Given the description of an element on the screen output the (x, y) to click on. 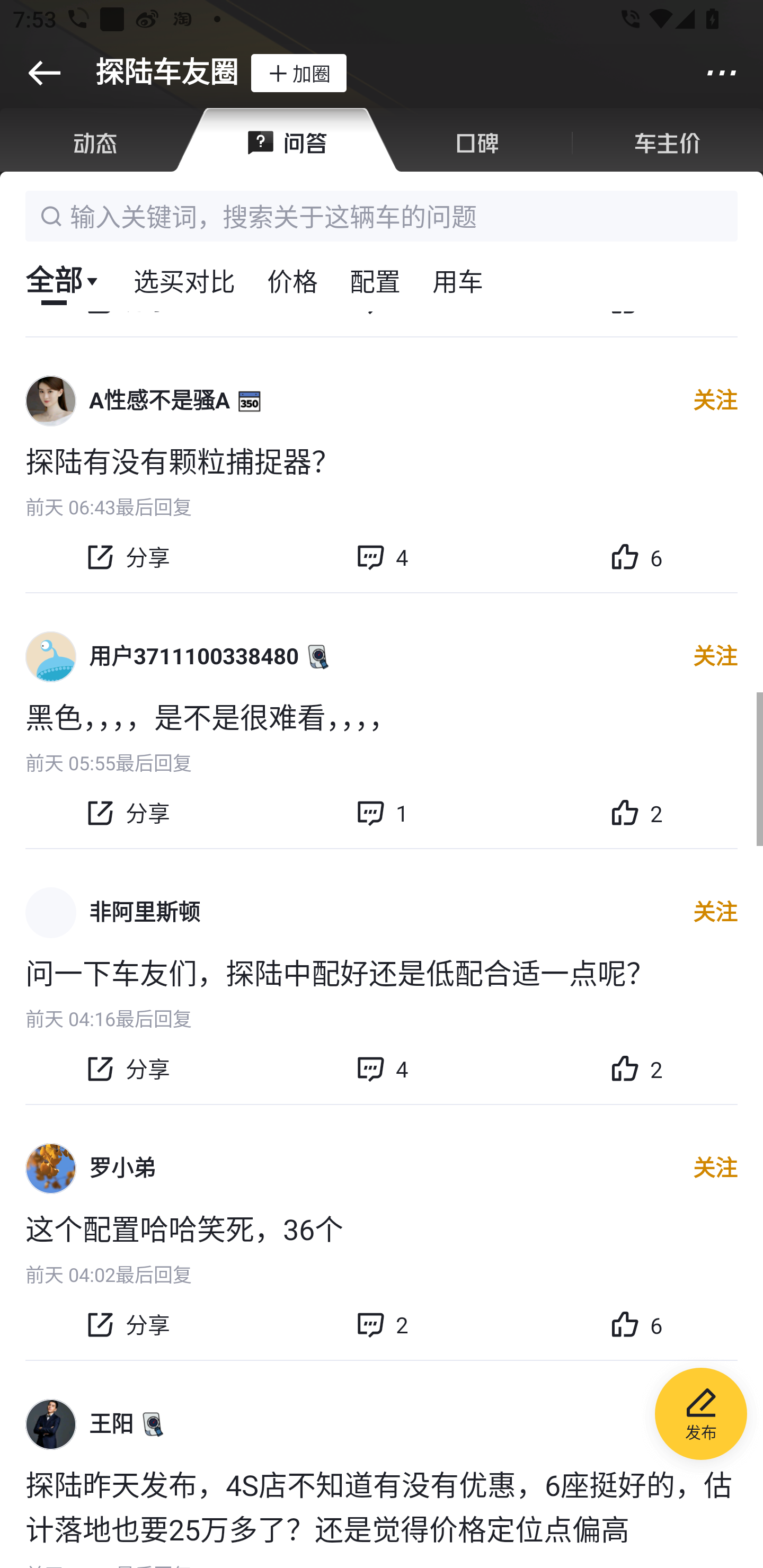
 (44, 72)
 加圈 (298, 72)
 (721, 72)
 输入关键词，搜索关于这辆车的问题 (381, 216)
全部  (63, 279)
选买对比 (184, 279)
价格 (292, 279)
配置 (374, 279)
用车 (457, 279)
关注 (714, 401)
A性感不是骚A (159, 401)
探陆有没有颗粒捕捉器？ (381, 460)
 分享 (127, 557)
 4 (381, 557)
6 (635, 557)
关注 (714, 656)
用户3711100338480 (194, 656)
黑色，，，，是不是很难看，，，， (381, 715)
 分享 (127, 812)
 1 (381, 812)
2 (635, 812)
关注 (714, 912)
非阿里斯顿 (144, 912)
问一下车友们，探陆中配好还是低配合适一点呢？ (381, 971)
 分享 (127, 1068)
 4 (381, 1068)
2 (635, 1068)
关注 (714, 1168)
罗小弟 (122, 1167)
这个配置哈哈笑死，36个 (381, 1227)
 分享 (127, 1324)
 2 (381, 1324)
6 (635, 1324)
 发布 (701, 1416)
王阳 (111, 1424)
探陆昨天发布，4S店不知道有没有优惠，6座挺好的，估计落地也要25万多了？还是觉得价格定位点偏高 (381, 1505)
